Given the description of an element on the screen output the (x, y) to click on. 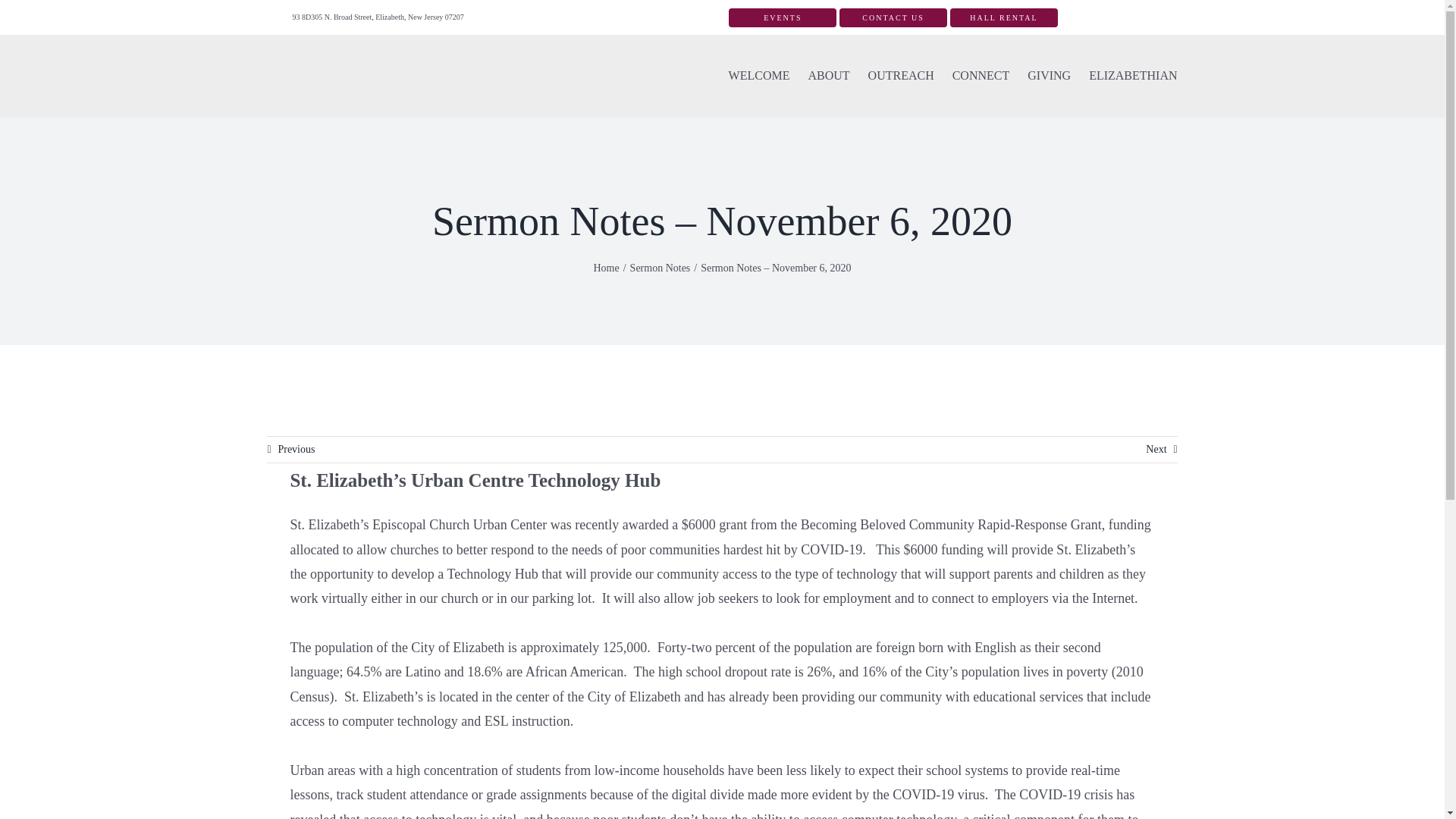
HALL RENTAL (1004, 17)
CONTACT US (893, 17)
GIVING (1048, 75)
WELCOME (759, 75)
OUTREACH (900, 75)
ABOUT (828, 75)
EVENTS (782, 17)
CONNECT (981, 75)
